Given the description of an element on the screen output the (x, y) to click on. 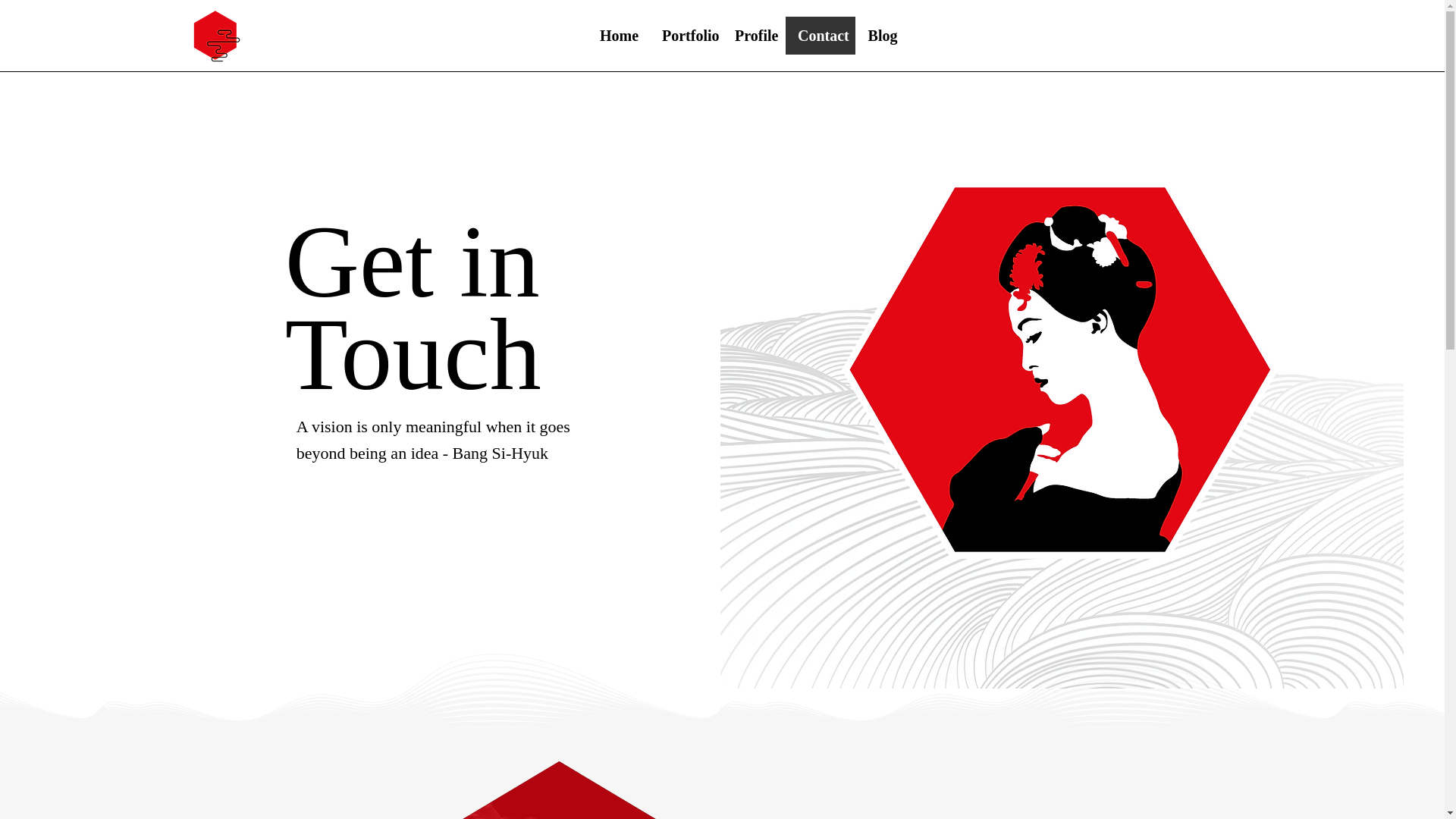
Profile (754, 35)
Contact (821, 35)
Home (618, 35)
Portfolio (685, 35)
Blog (882, 35)
